Given the description of an element on the screen output the (x, y) to click on. 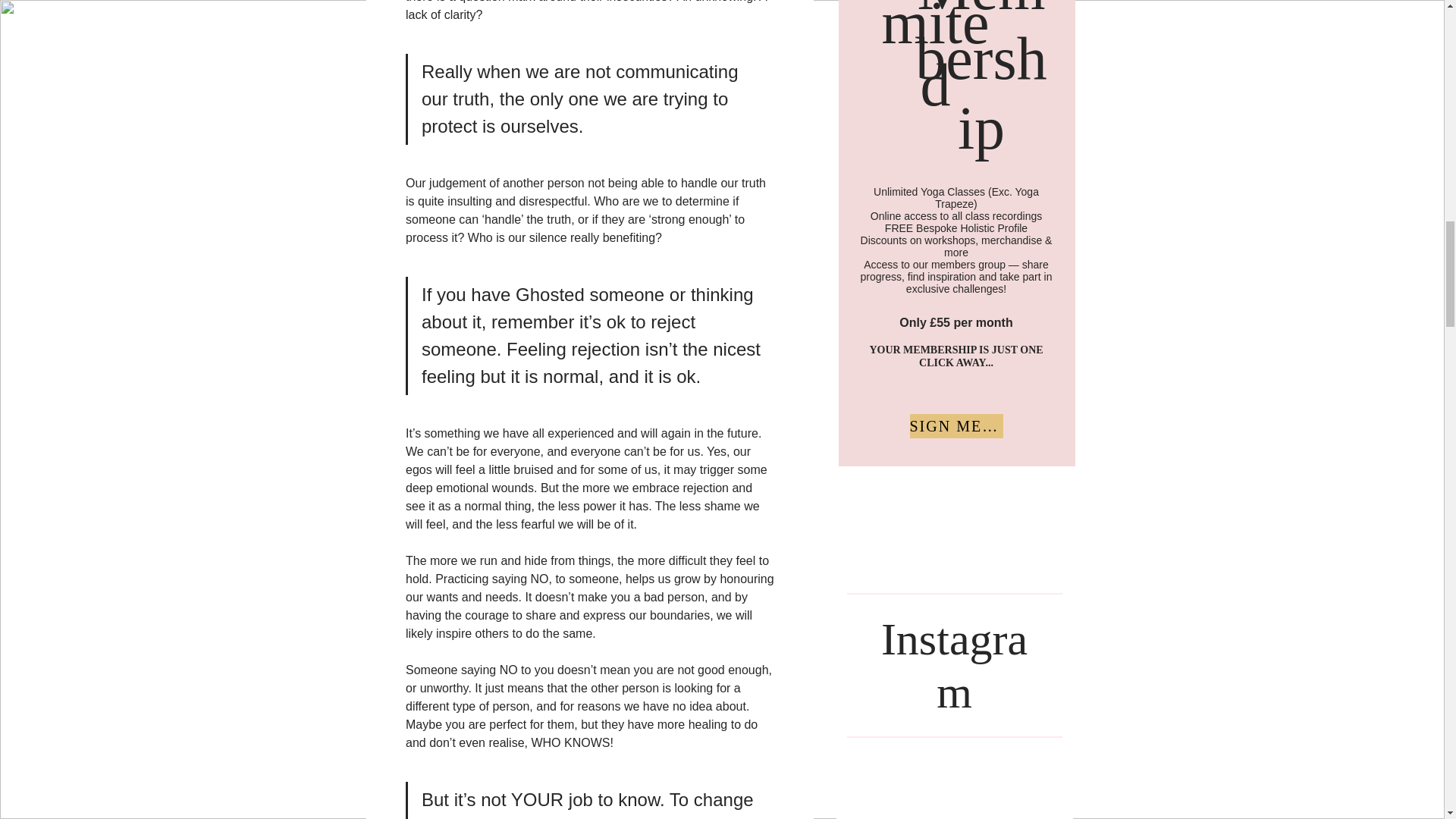
SIGN ME UP (956, 426)
Instagram (953, 665)
